Given the description of an element on the screen output the (x, y) to click on. 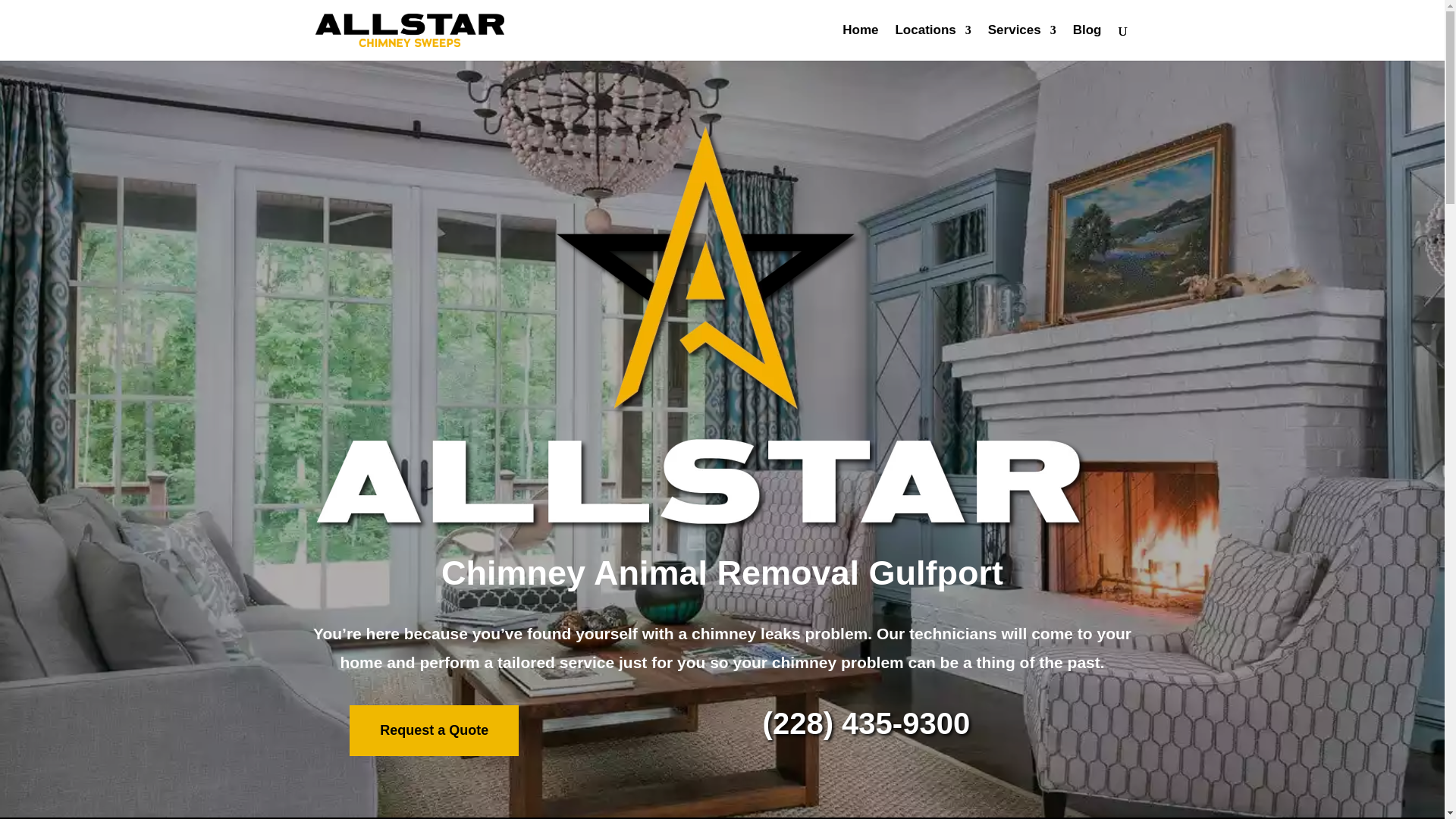
Locations (933, 42)
Home (860, 42)
